Given the description of an element on the screen output the (x, y) to click on. 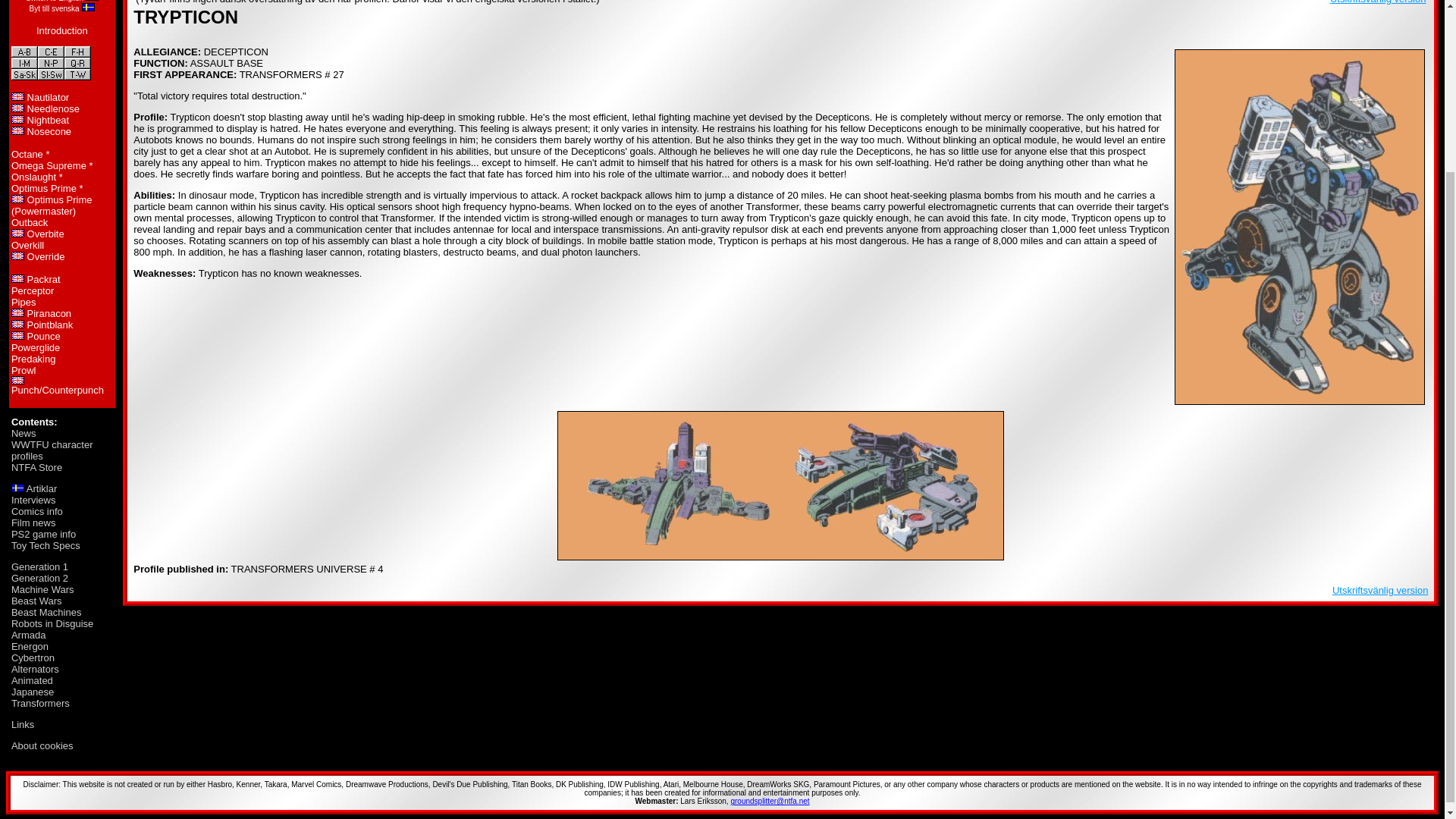
Onslaught (33, 176)
Perceptor (32, 290)
Packrat (44, 279)
Overbite (45, 233)
Byt till svenska (53, 8)
Pointblank (50, 324)
Prowl (23, 369)
Nightbeat (48, 120)
Powerglide (35, 347)
Outback (29, 222)
